Given the description of an element on the screen output the (x, y) to click on. 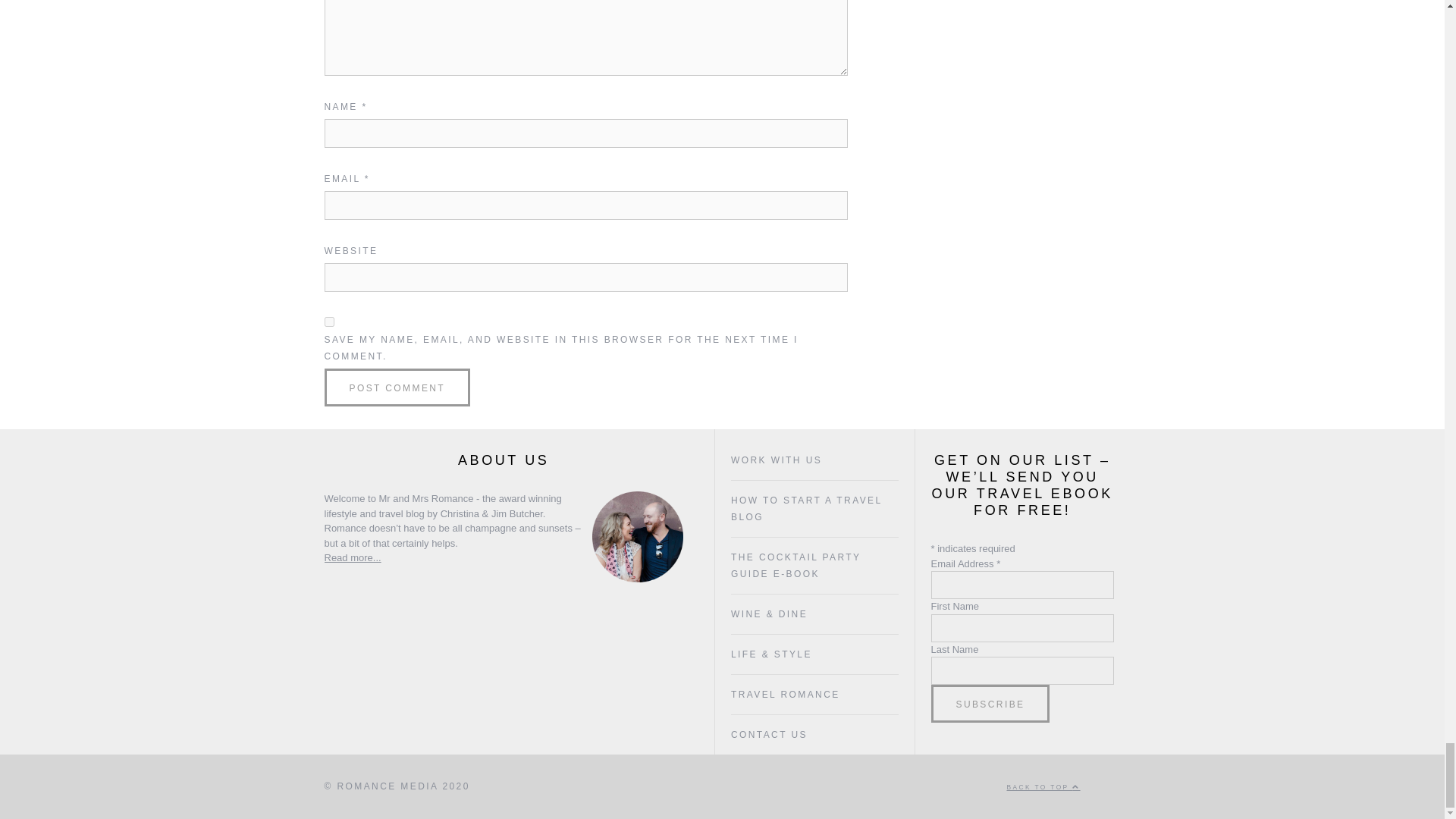
yes (329, 321)
Post Comment (397, 387)
Subscribe (990, 703)
